Given the description of an element on the screen output the (x, y) to click on. 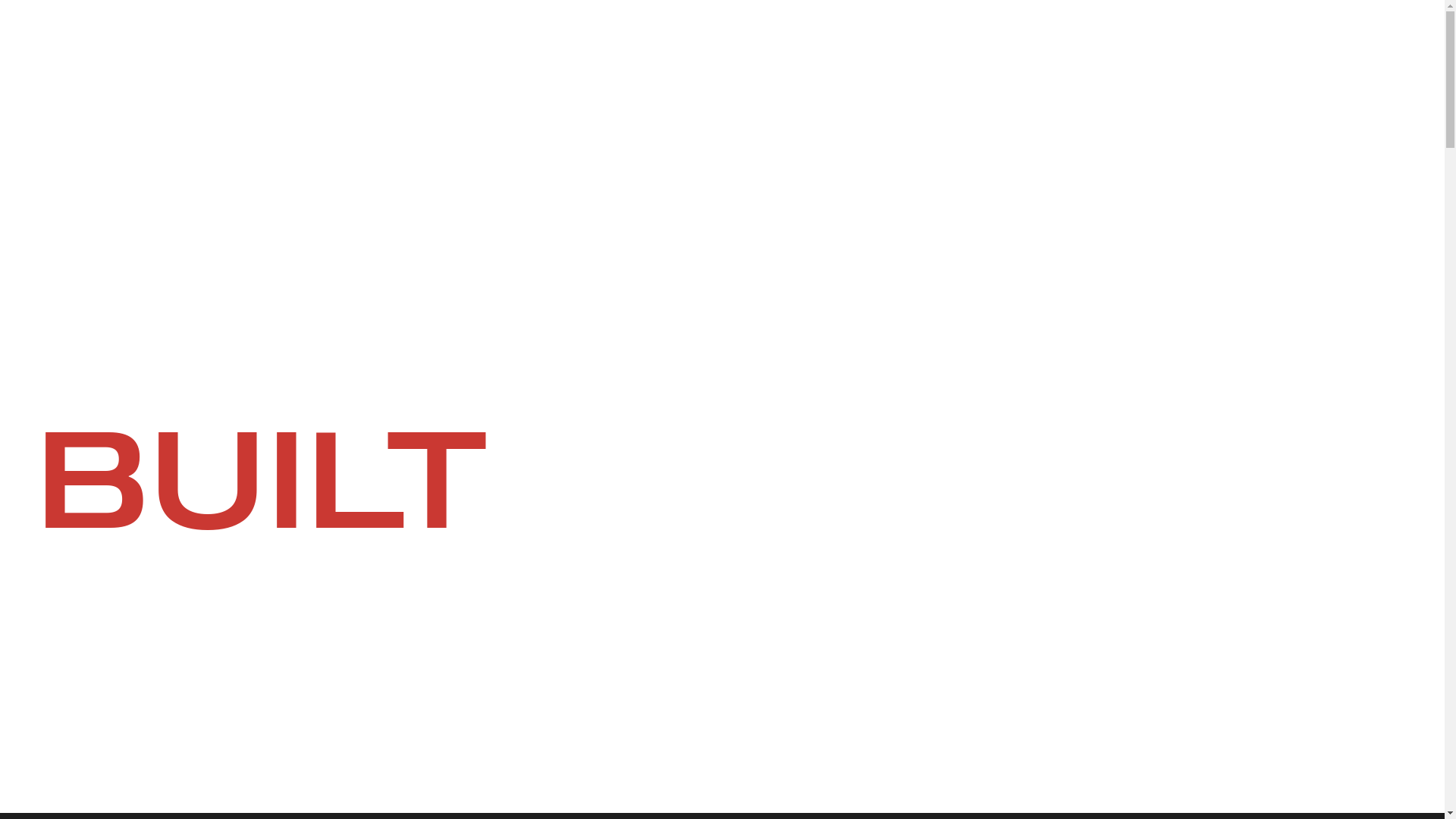
CONTACT Element type: text (1205, 42)
PROJECTS Element type: text (966, 42)
ABOUT Element type: text (1054, 42)
TEAM Element type: text (1126, 42)
